Given the description of an element on the screen output the (x, y) to click on. 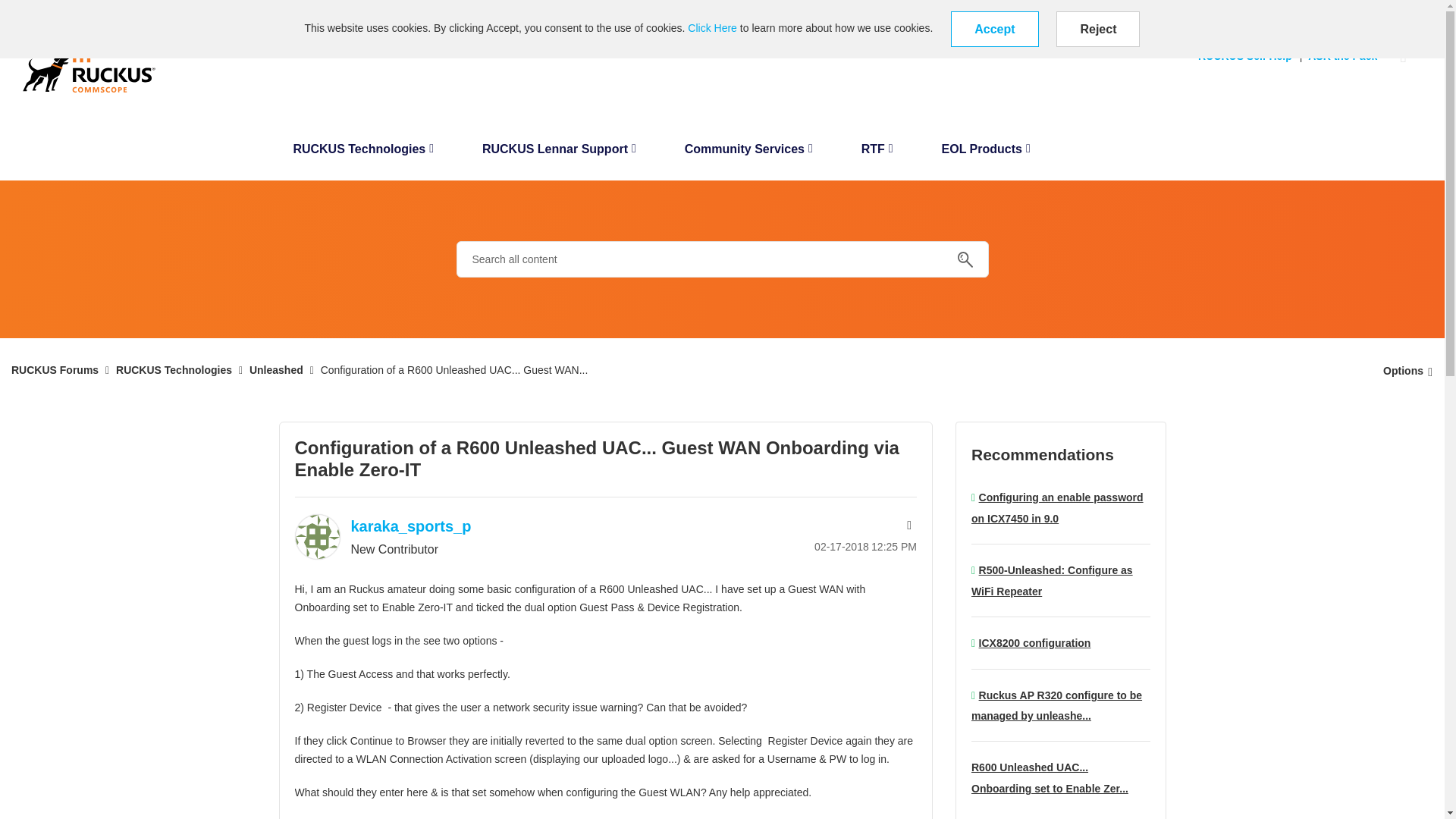
Reject (1098, 28)
Click Here (711, 28)
Show option menu (1402, 370)
Community Services (748, 153)
RTF (876, 153)
BACK TO SUPPORT PORTAL (74, 10)
ASK the Pack (1345, 55)
RUCKUS Technologies (363, 153)
Search (964, 258)
Search (964, 258)
CommScope RUCKUS Community Forums (89, 67)
RUCKUS Lennar Support (558, 153)
RUCKUS Self Help (1249, 55)
Accept (994, 28)
Search (722, 258)
